Given the description of an element on the screen output the (x, y) to click on. 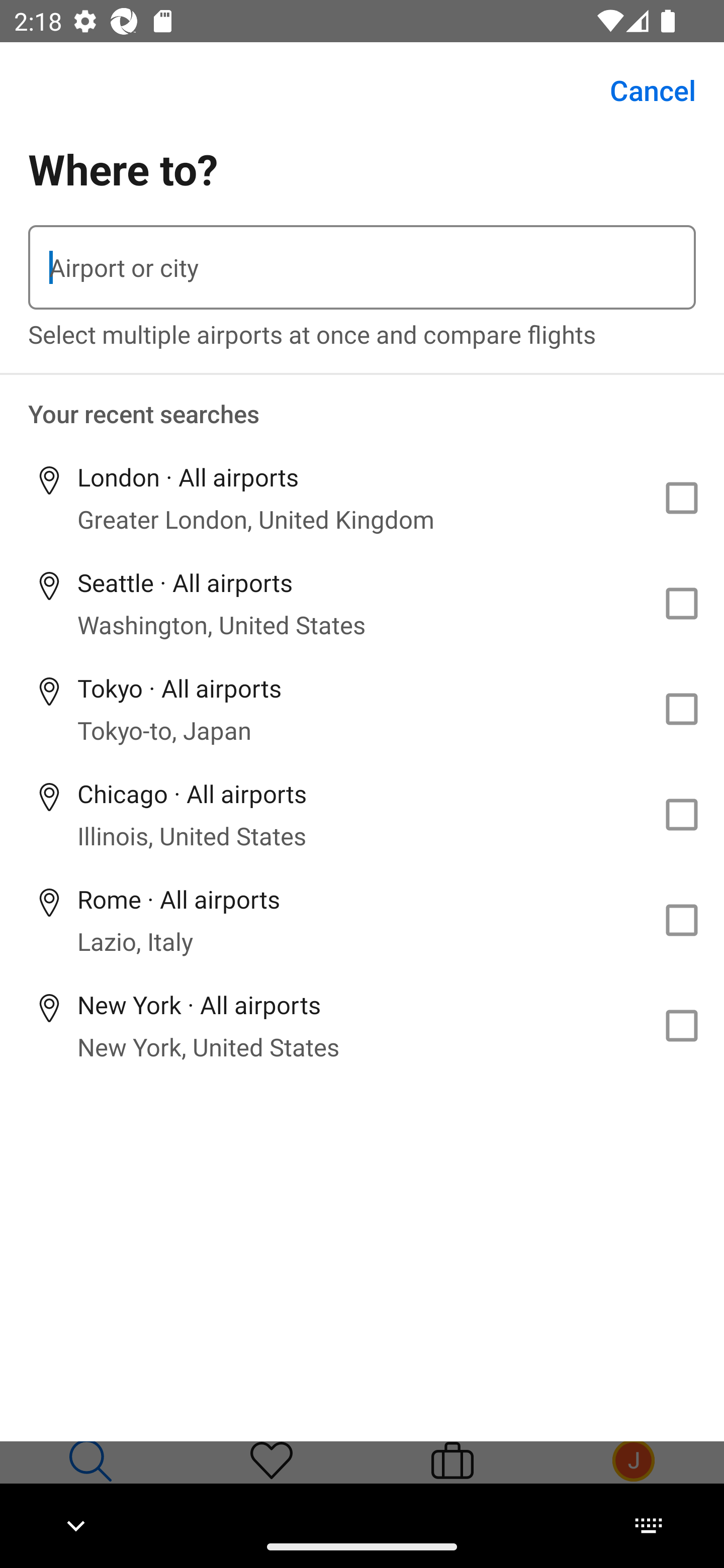
Cancel (641, 90)
Airport or city (361, 266)
Seattle · All airports Washington, United States (362, 603)
Tokyo · All airports Tokyo-to, Japan (362, 709)
Chicago · All airports Illinois, United States (362, 814)
Rome · All airports Lazio, Italy (362, 920)
New York · All airports New York, United States (362, 1025)
